Given the description of an element on the screen output the (x, y) to click on. 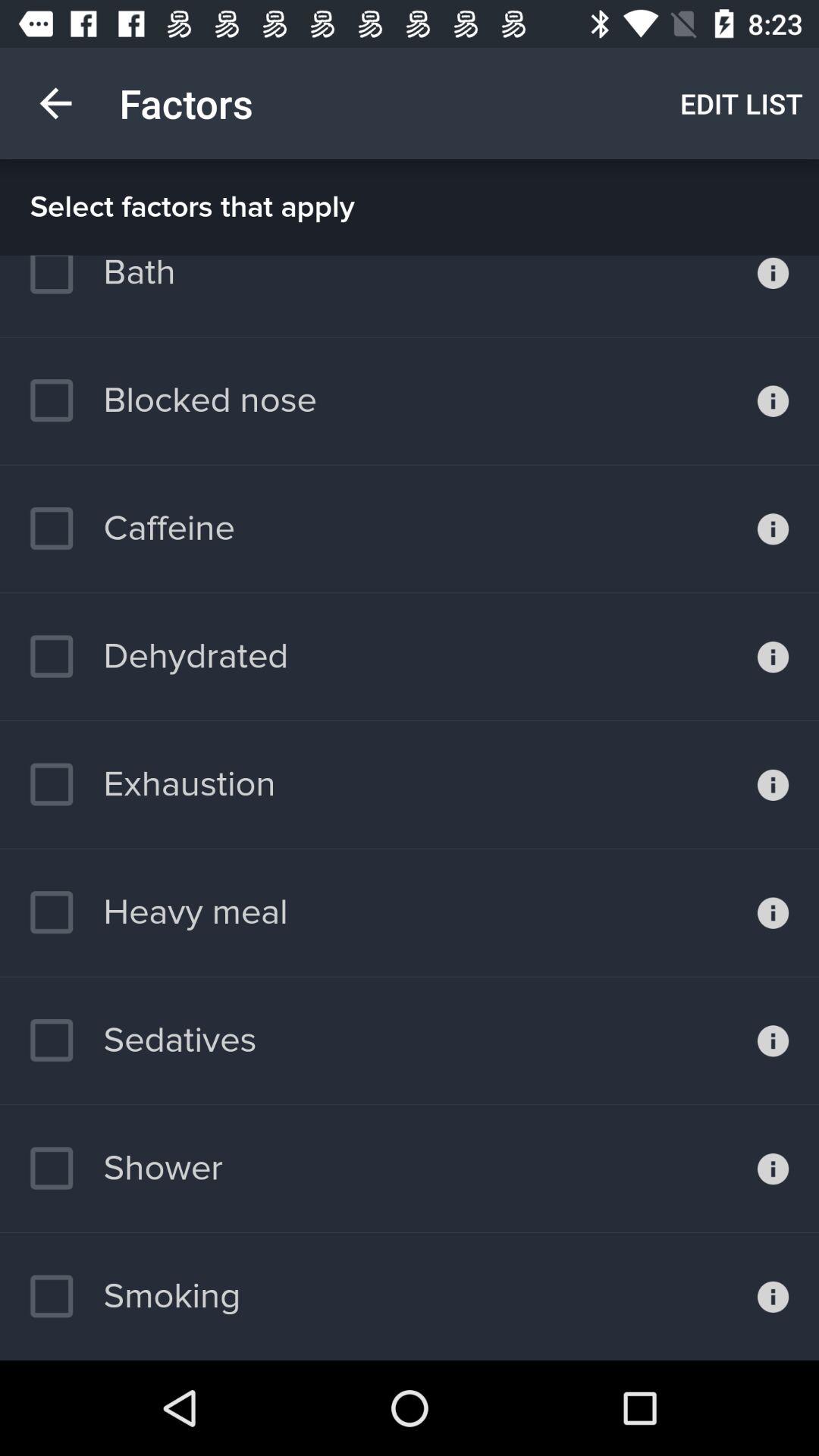
click the item below the dehydrated item (152, 784)
